Given the description of an element on the screen output the (x, y) to click on. 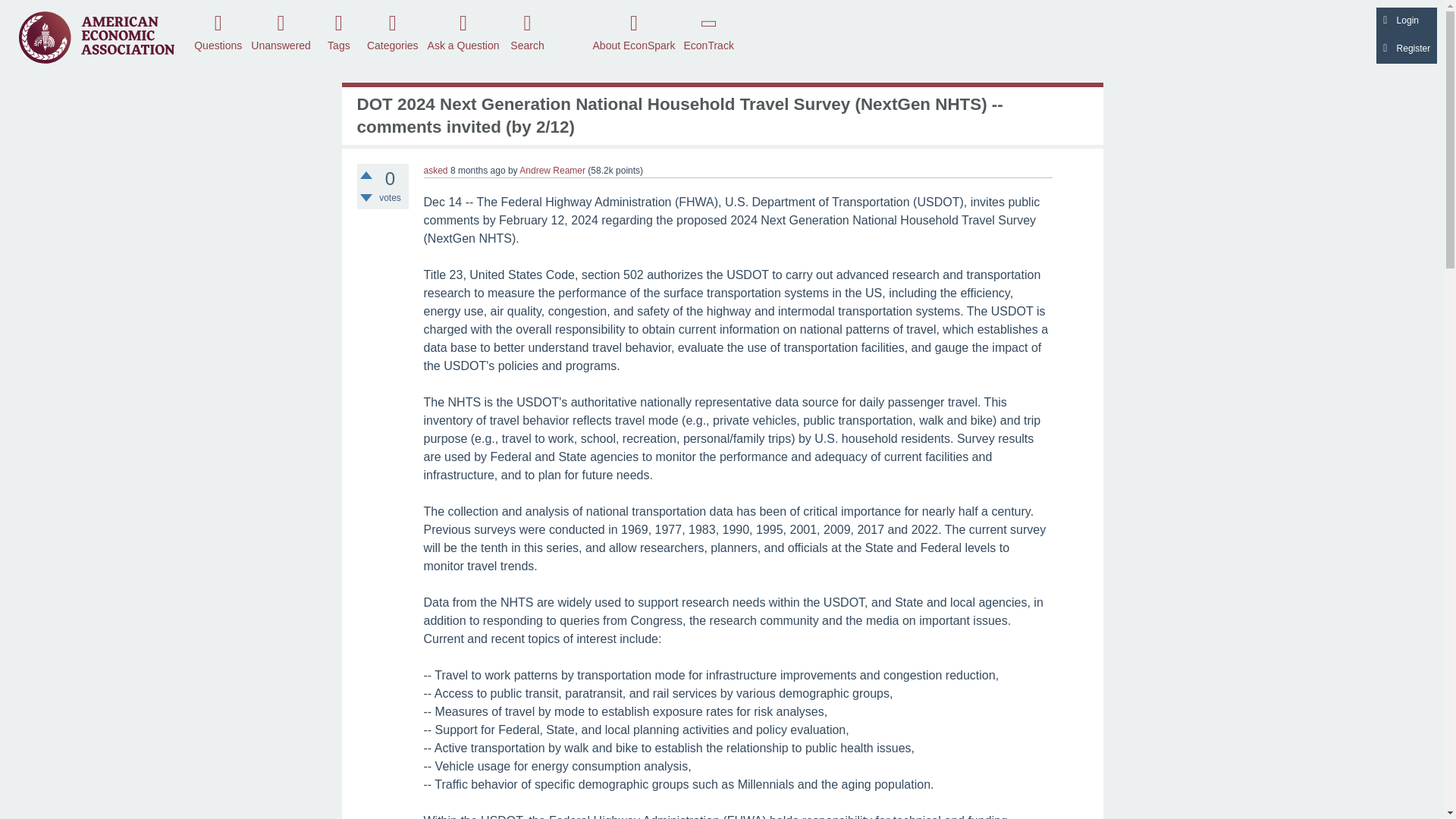
Register (1406, 49)
Click to vote down (365, 197)
Questions (218, 31)
Search (527, 31)
Login (1406, 21)
Economics Forum (96, 37)
Ask a Question (463, 31)
EconTrack (707, 31)
About EconSpark (634, 31)
asked (434, 170)
